Given the description of an element on the screen output the (x, y) to click on. 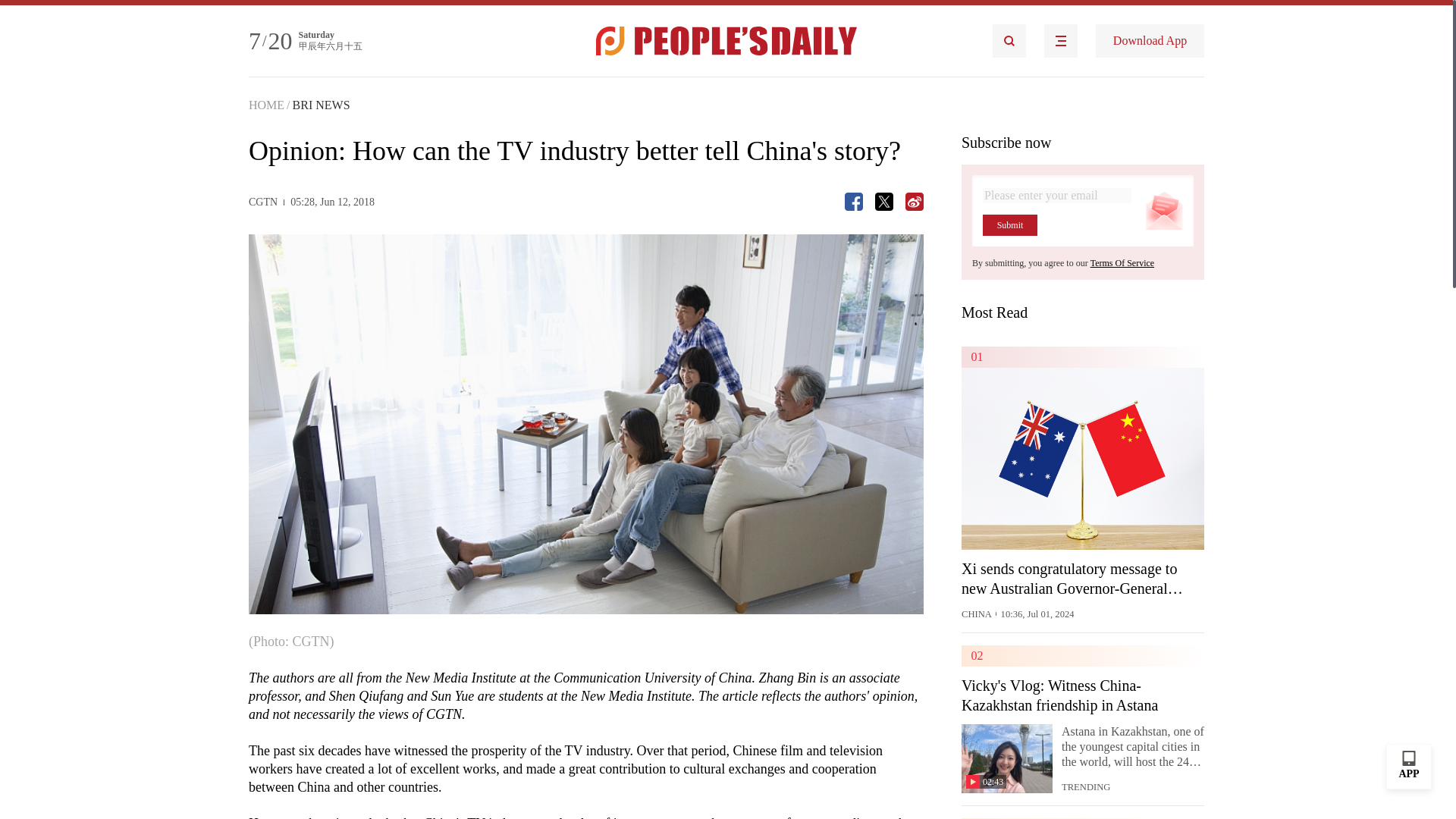
Terms Of Service (1122, 262)
HOME (265, 105)
Download App (1150, 40)
